Given the description of an element on the screen output the (x, y) to click on. 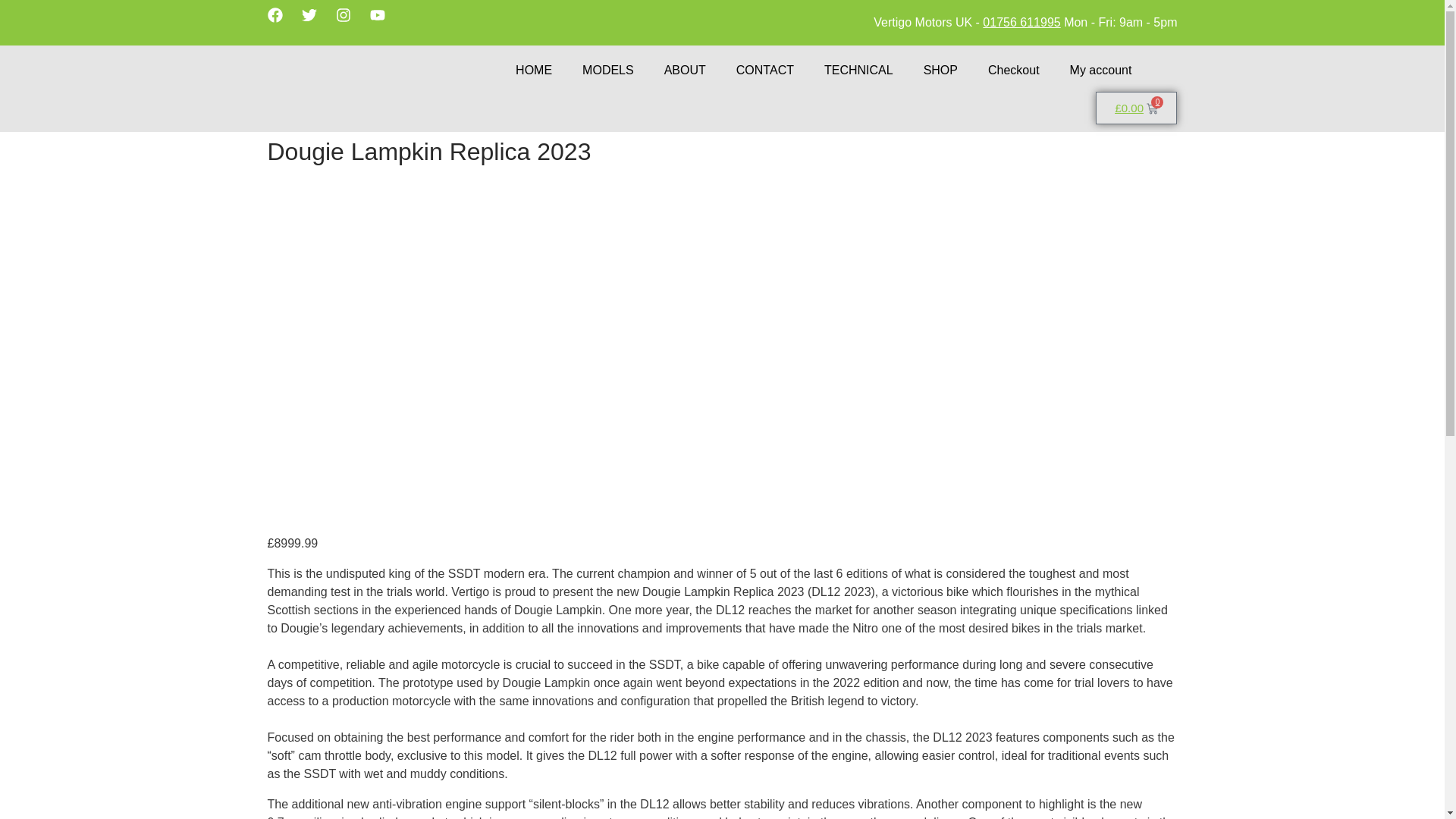
SHOP (940, 70)
CONTACT (764, 70)
01756 611995 (1020, 21)
My account (1100, 70)
HOME (533, 70)
MODELS (608, 70)
TECHNICAL (858, 70)
ABOUT (684, 70)
Checkout (1013, 70)
